Given the description of an element on the screen output the (x, y) to click on. 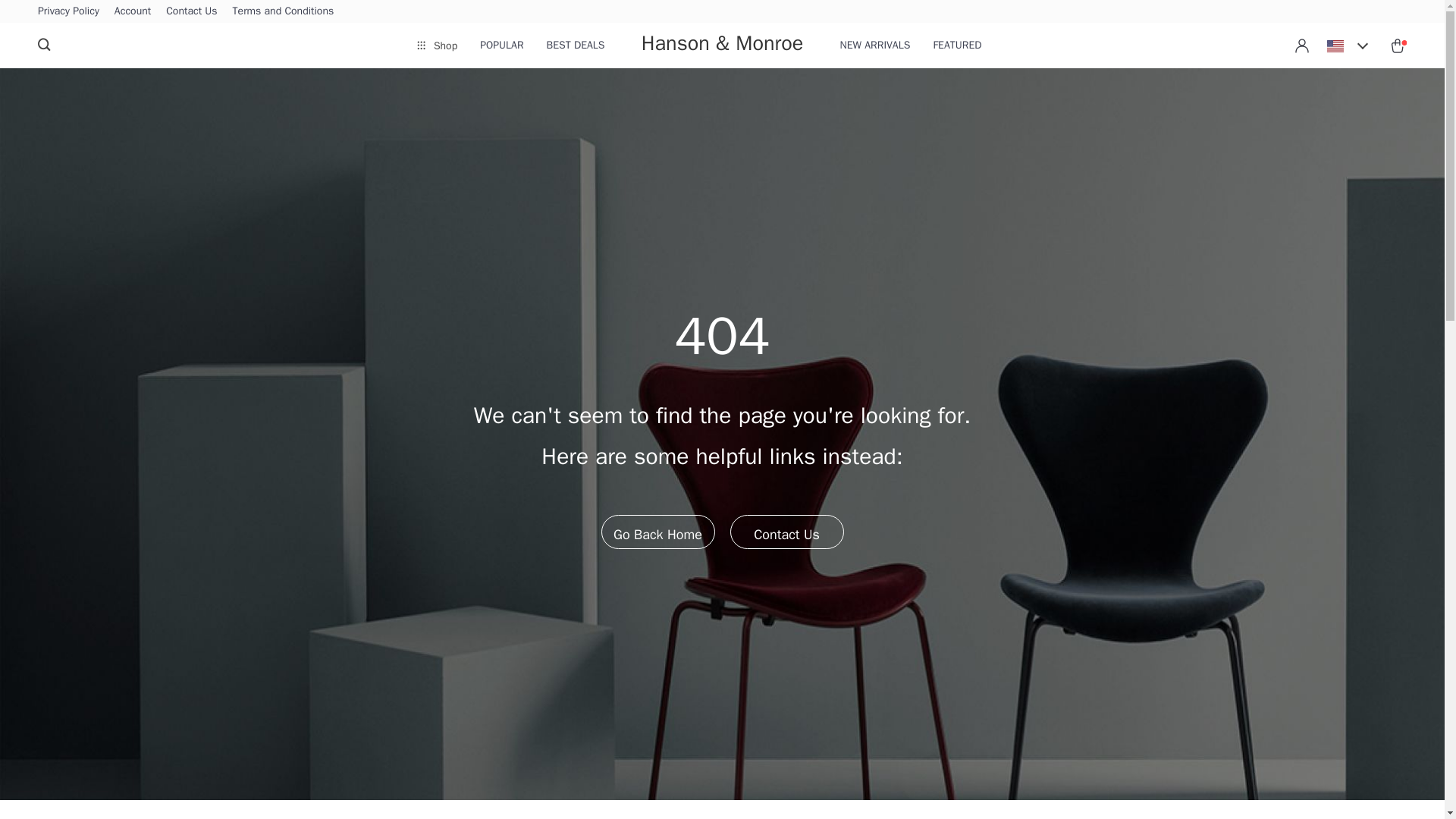
POPULAR (501, 45)
Go Back Home (656, 530)
Terms and Conditions (283, 10)
FEATURED (957, 45)
Contact Us (190, 10)
BEST DEALS (576, 45)
Contact Us (786, 530)
Account (133, 10)
Privacy Policy (68, 10)
NEW ARRIVALS (875, 45)
